Given the description of an element on the screen output the (x, y) to click on. 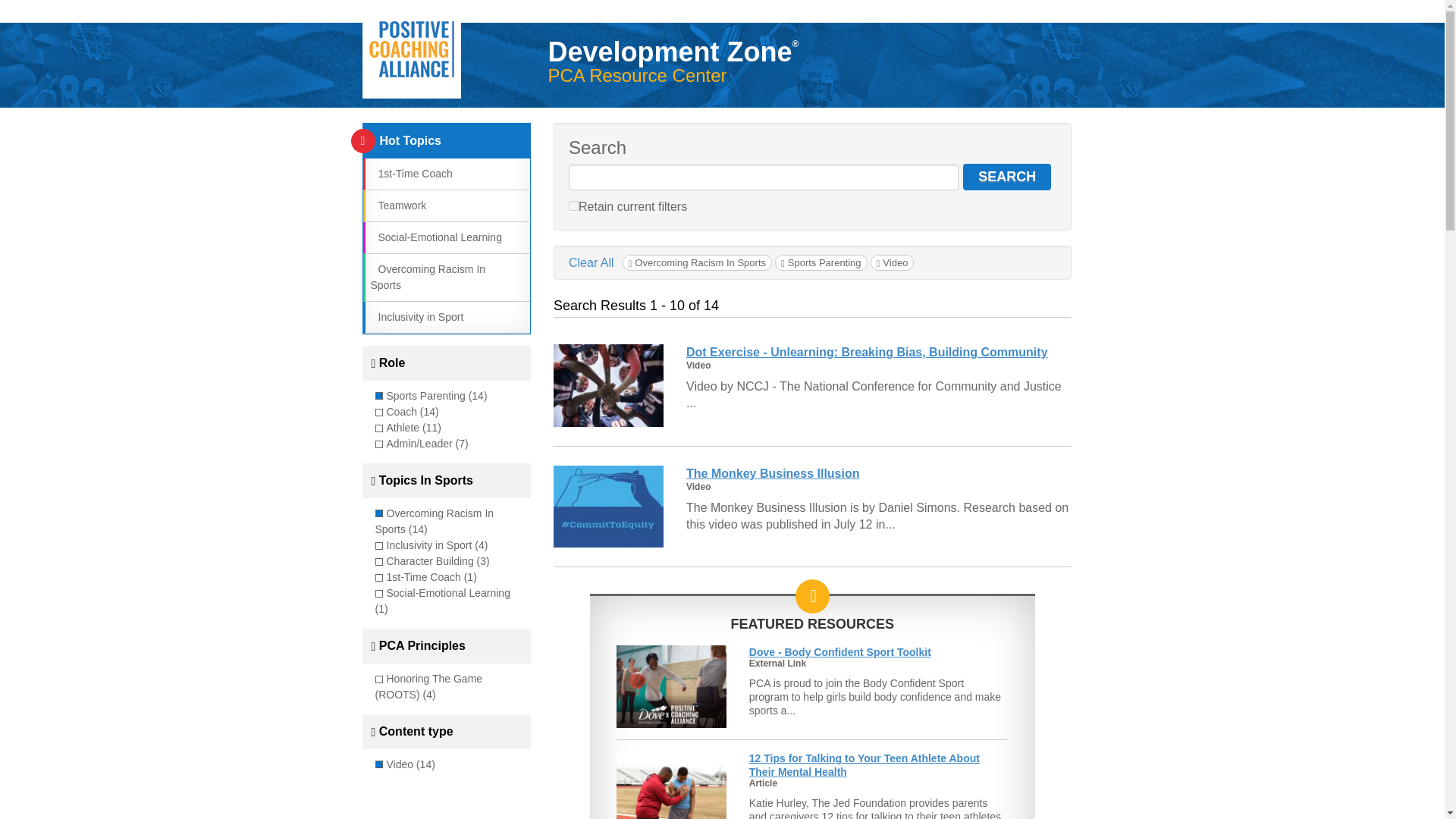
1st-Time Coach (410, 173)
Clear All (591, 262)
Inclusivity in Sport (416, 316)
Overcoming Racism In Sports (697, 262)
Teamwork (397, 205)
1 (573, 205)
Video (892, 262)
The Monkey Business Illusion (772, 472)
Dot Exercise - Unlearning: Breaking Bias, Building Community (866, 351)
Dove - Body Confident Sport Toolkit (840, 652)
SEARCH (1006, 176)
Social-Emotional Learning (434, 236)
Overcoming Racism In Sports (426, 276)
Sports Parenting (820, 262)
